Given the description of an element on the screen output the (x, y) to click on. 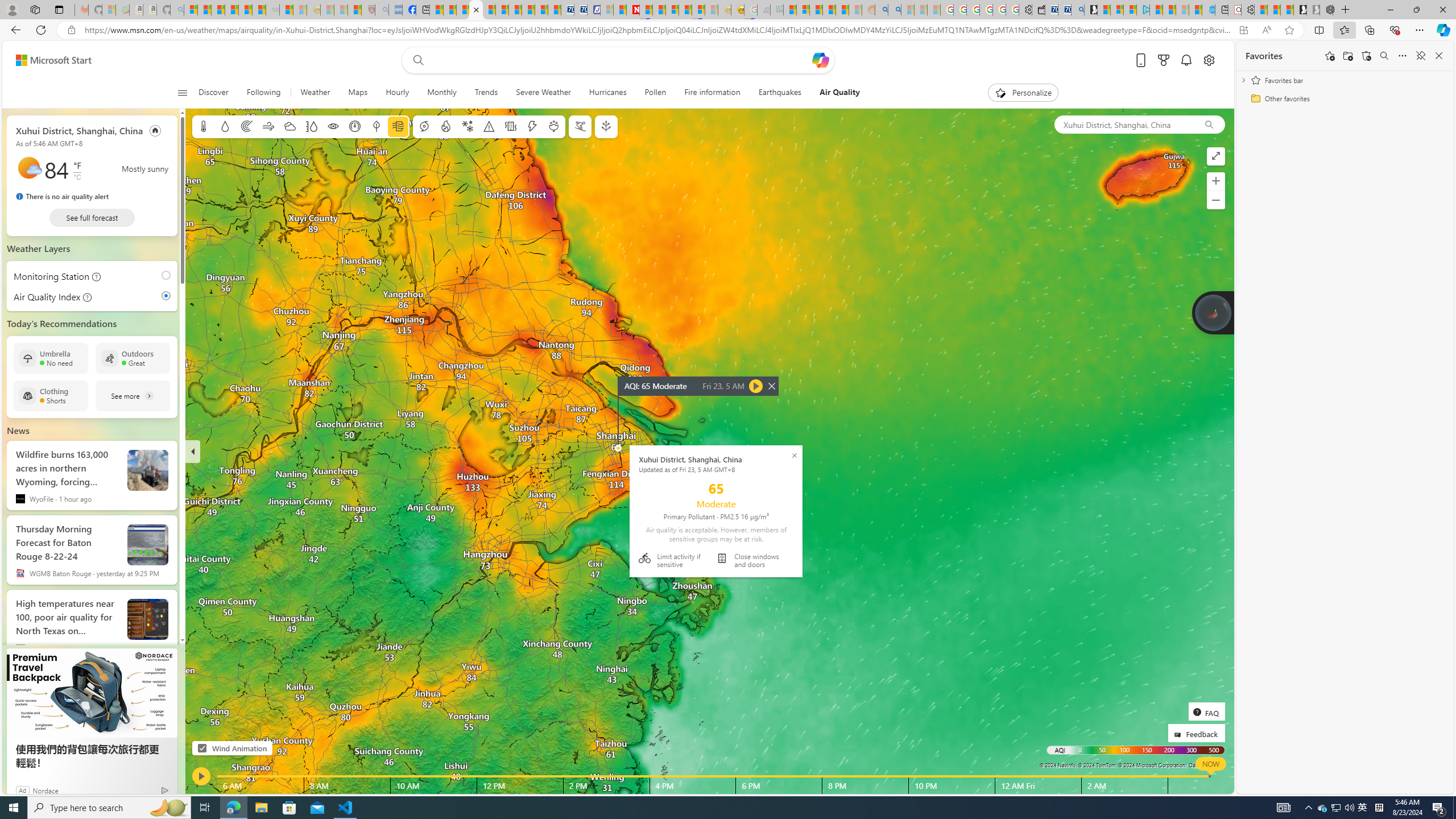
Nordace - Nordace Siena Is Not An Ordinary Backpack (1326, 9)
Open settings (1208, 60)
Precipitation (225, 126)
Home | Sky Blue Bikes - Sky Blue Bikes (1208, 9)
Microsoft account | Privacy - Sleeping (606, 9)
Pollen (654, 92)
